Given the description of an element on the screen output the (x, y) to click on. 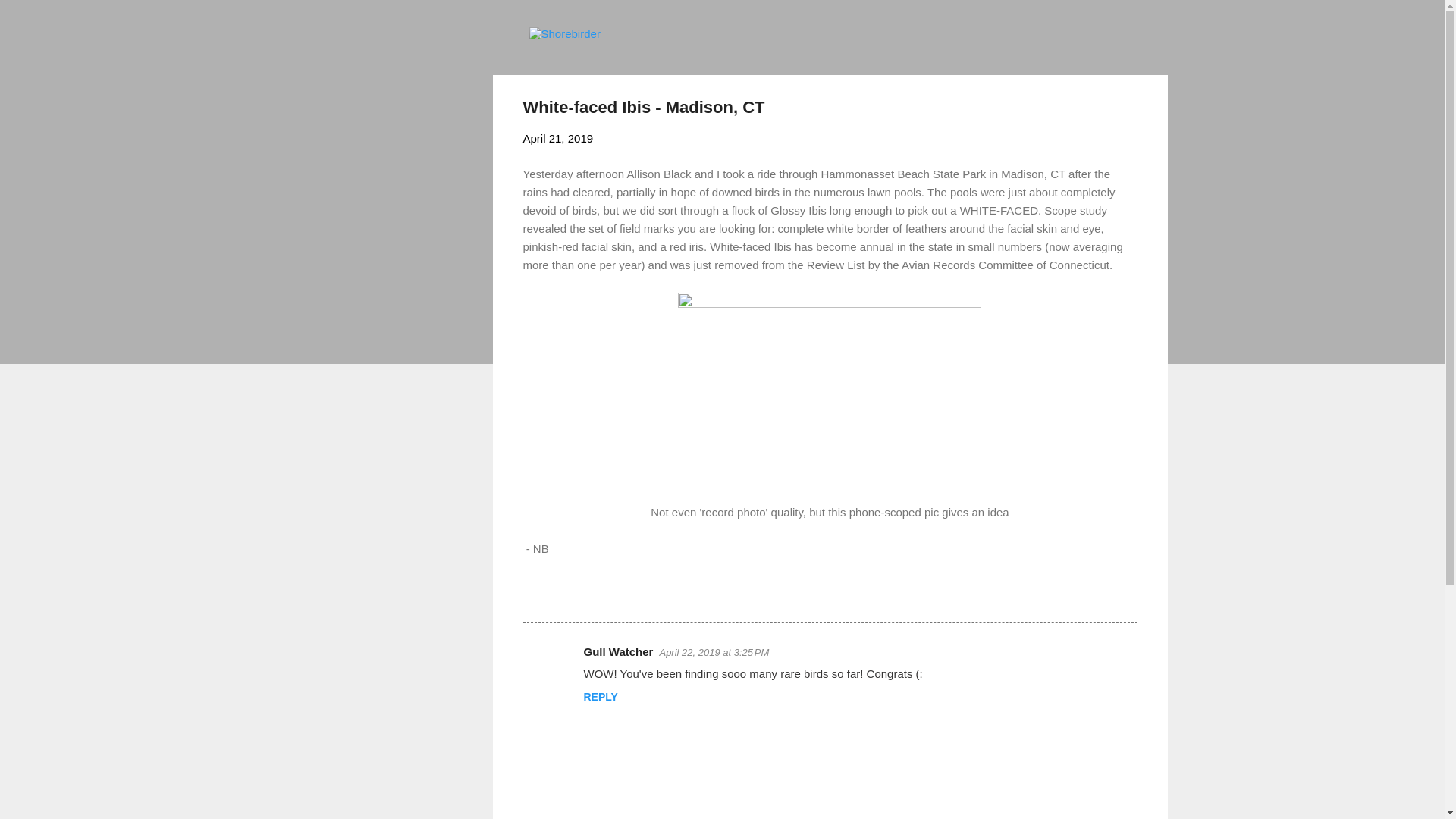
April 21, 2019 (558, 137)
Gull Watcher (618, 651)
Search (29, 18)
REPLY (600, 696)
permanent link (558, 137)
